Given the description of an element on the screen output the (x, y) to click on. 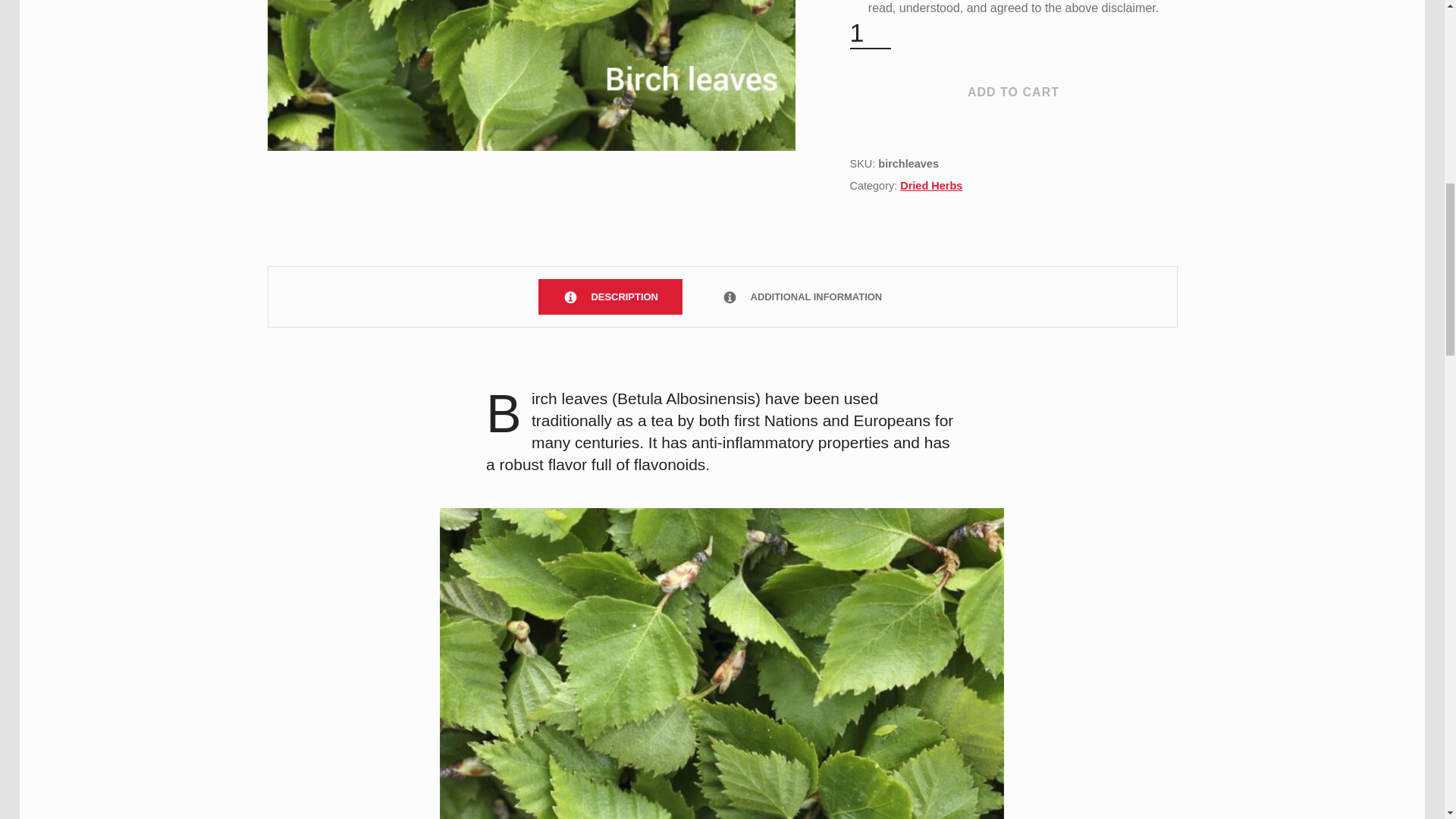
Birch Leaves (530, 75)
ADD TO CART (1012, 92)
1 (869, 33)
Dried Herbs (930, 185)
ADDITIONAL INFORMATION (801, 296)
DESCRIPTION (610, 296)
